Given the description of an element on the screen output the (x, y) to click on. 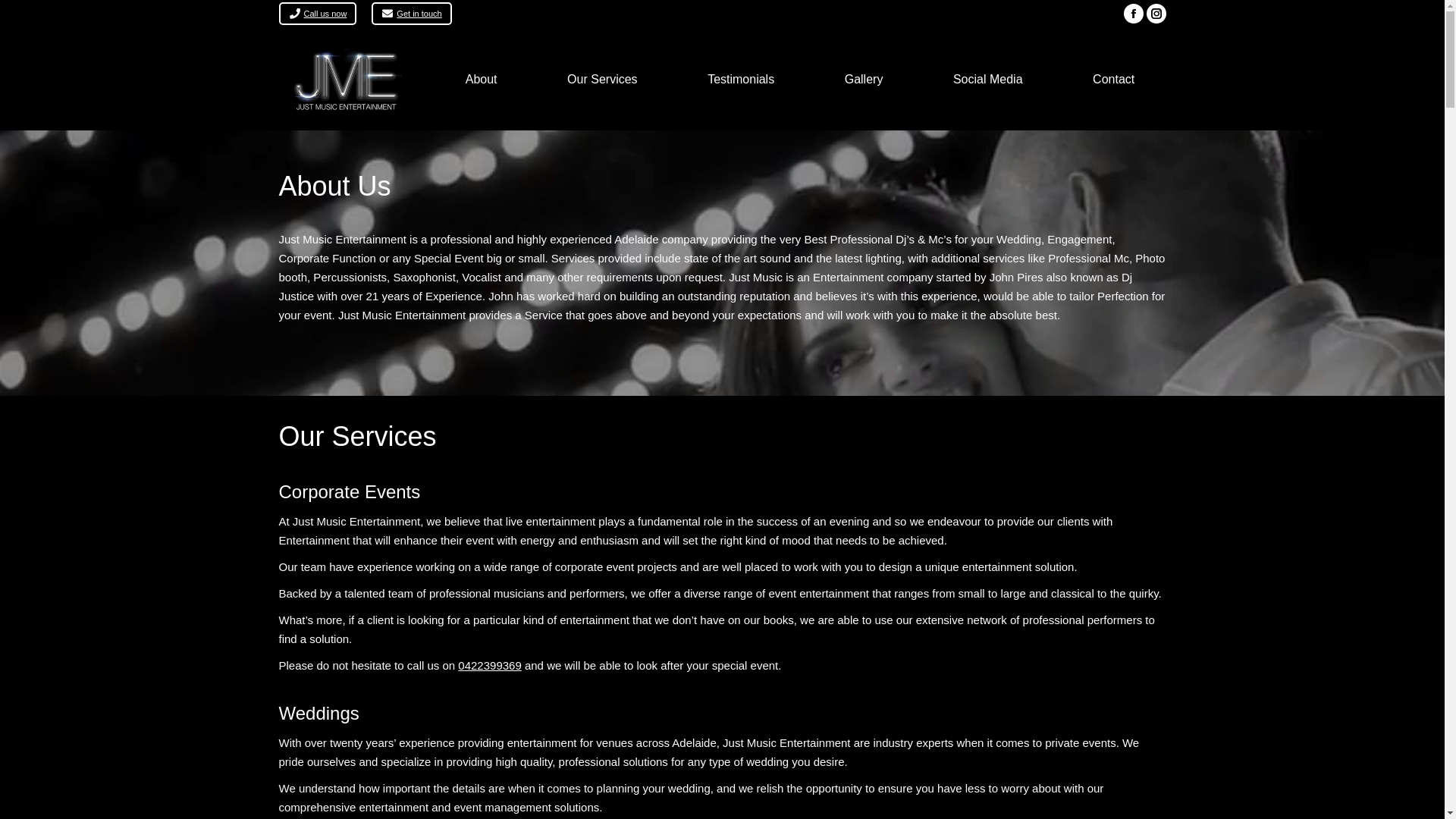
Contact Element type: text (1113, 78)
About Element type: text (480, 78)
Our Services Element type: text (602, 78)
Social Media Element type: text (988, 78)
Gallery Element type: text (862, 78)
Facebook page opens in new window Element type: text (1133, 13)
Testimonials Element type: text (741, 78)
0422399369 Element type: text (489, 664)
Instagram page opens in new window Element type: text (1156, 13)
Call us now Element type: text (318, 13)
Get in touch Element type: text (411, 13)
